Given the description of an element on the screen output the (x, y) to click on. 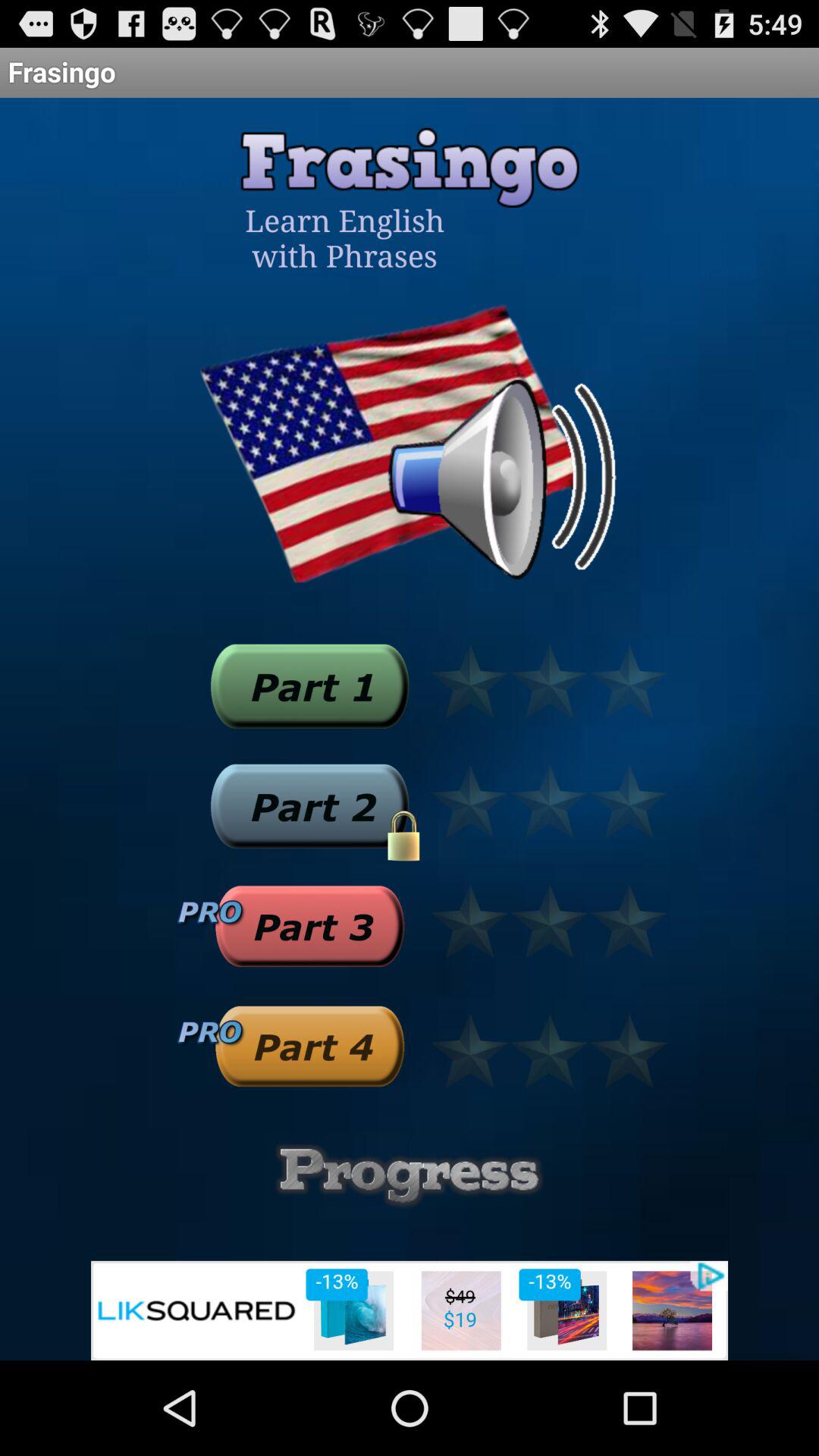
choose part 3 (309, 926)
